Given the description of an element on the screen output the (x, y) to click on. 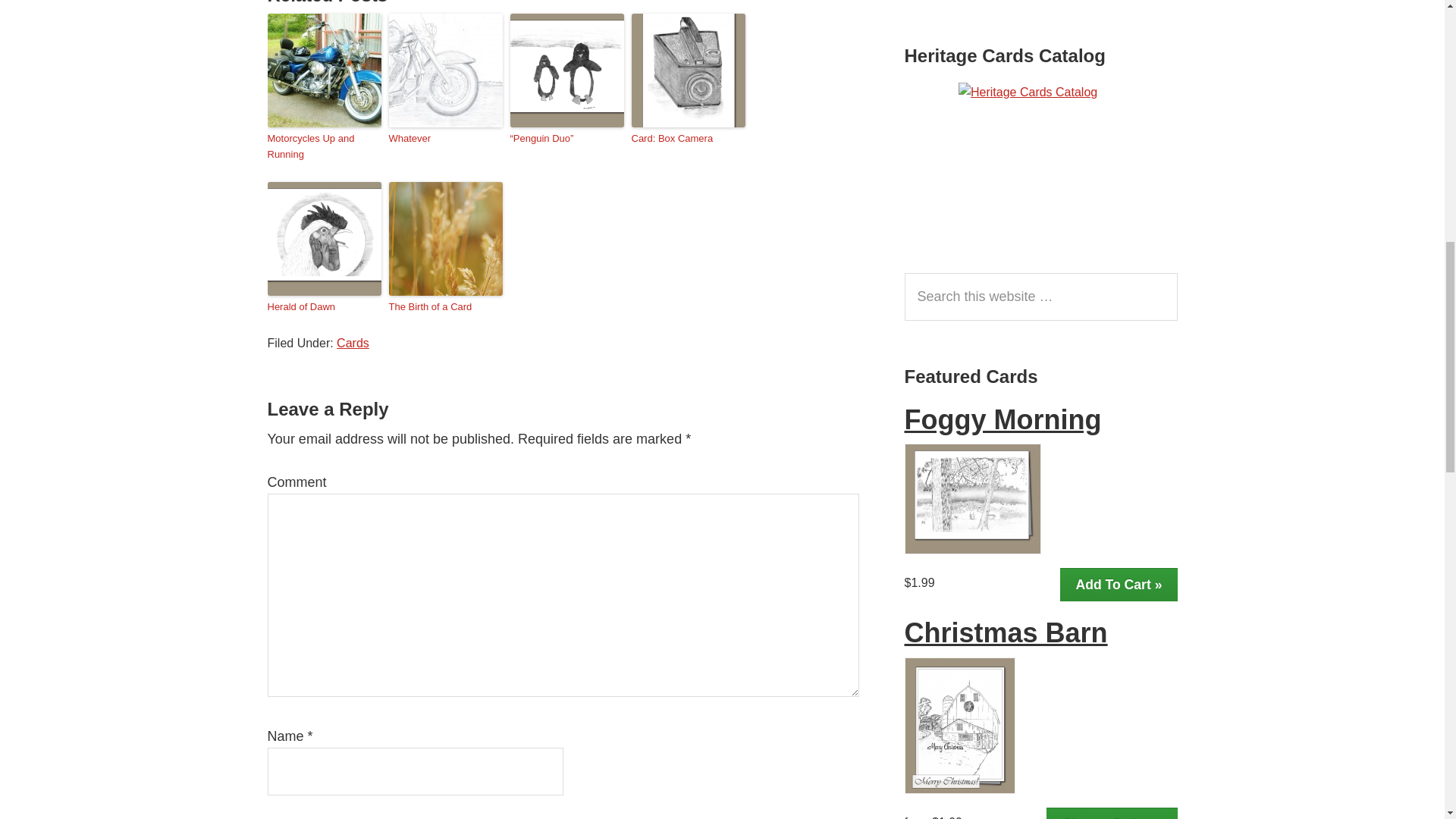
Whatever (445, 139)
The Birth of a Card (445, 307)
Card: Box Camera (687, 139)
Motorcycles Up and Running (323, 146)
Herald of Dawn (323, 307)
Foggy Morning  (972, 498)
Foggy Morning (1002, 419)
Cards (352, 342)
